Given the description of an element on the screen output the (x, y) to click on. 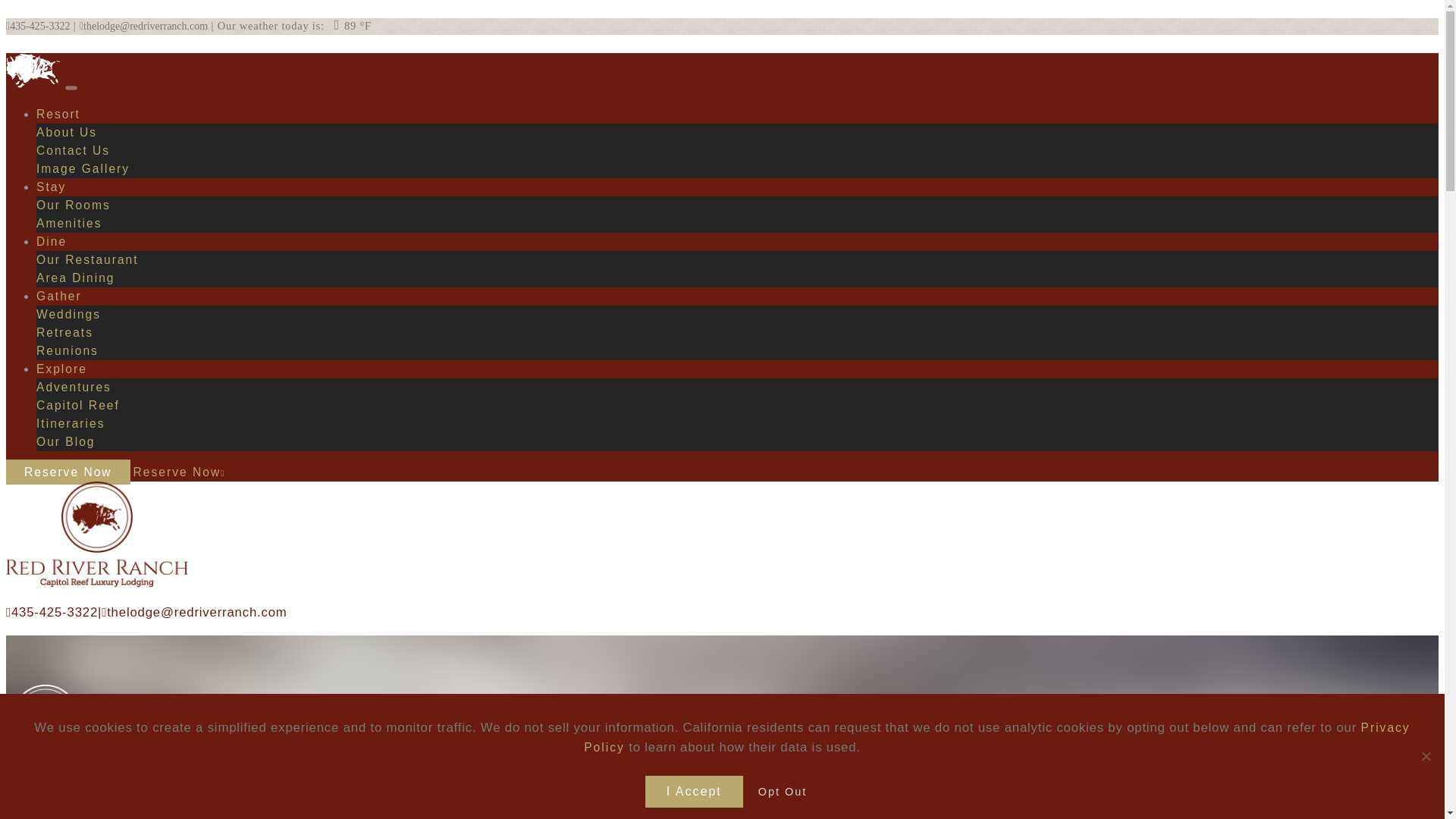
Our Rooms (73, 205)
Area Dining (75, 277)
435-425-3322 (37, 25)
Amenities (68, 223)
Our Restaurant (87, 259)
Reserve Now (68, 471)
Our Blog (66, 440)
Explore (61, 368)
Retreats (64, 332)
Itineraries (70, 422)
About Us (66, 132)
Adventures (74, 386)
Gather (58, 295)
Capitol Reef (77, 404)
Resort (58, 113)
